Given the description of an element on the screen output the (x, y) to click on. 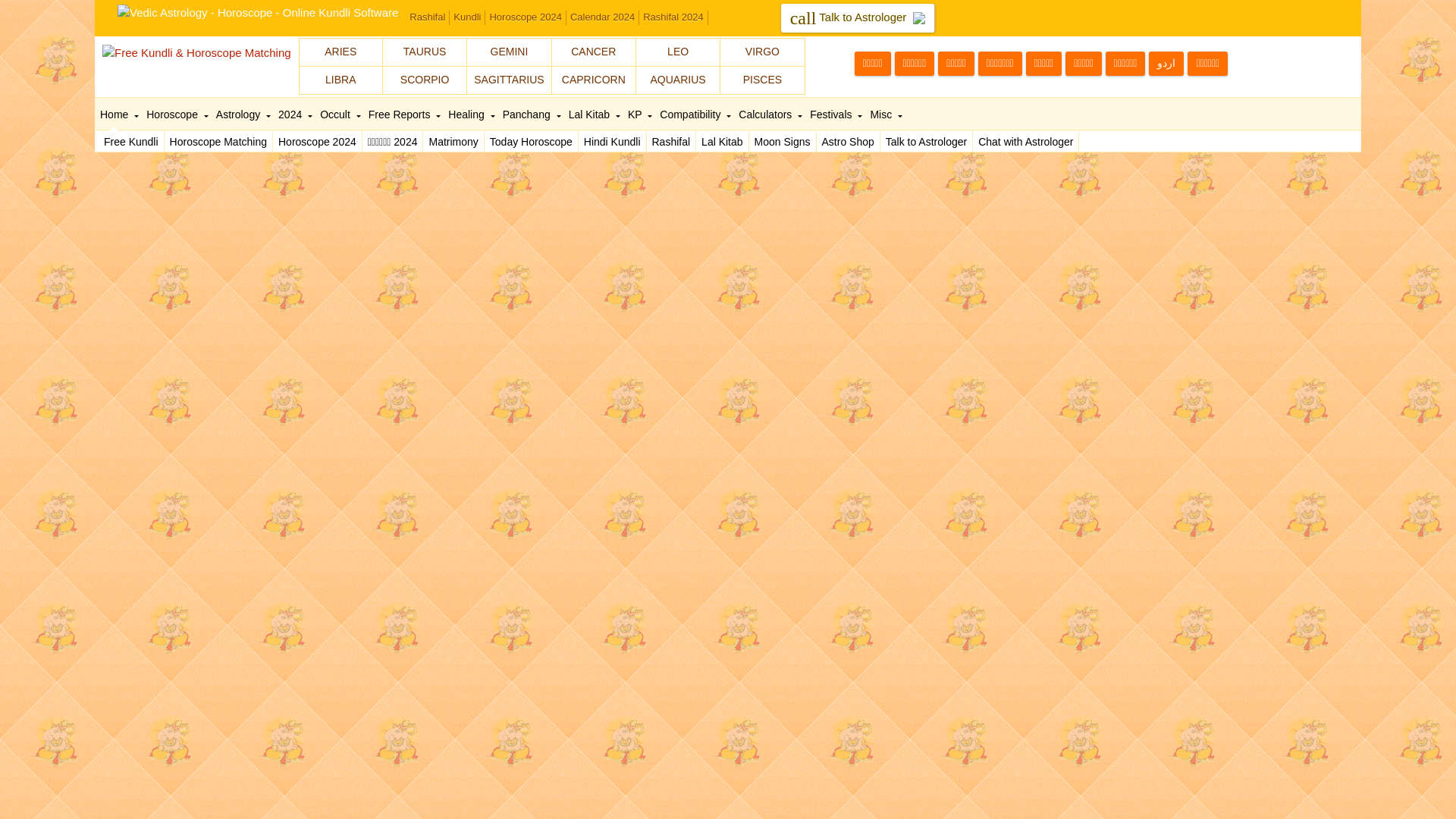
Horoscope 2024 (317, 141)
Horoscope Matching (218, 141)
SAGITTARIUS (508, 80)
CANCER (592, 52)
www.AstroSage.com: Vedic Astrology (257, 11)
AQUARIUS (677, 80)
Kannada (955, 63)
GEMINI (508, 52)
Horoscope 2024 (525, 17)
Kundli (466, 17)
